Given the description of an element on the screen output the (x, y) to click on. 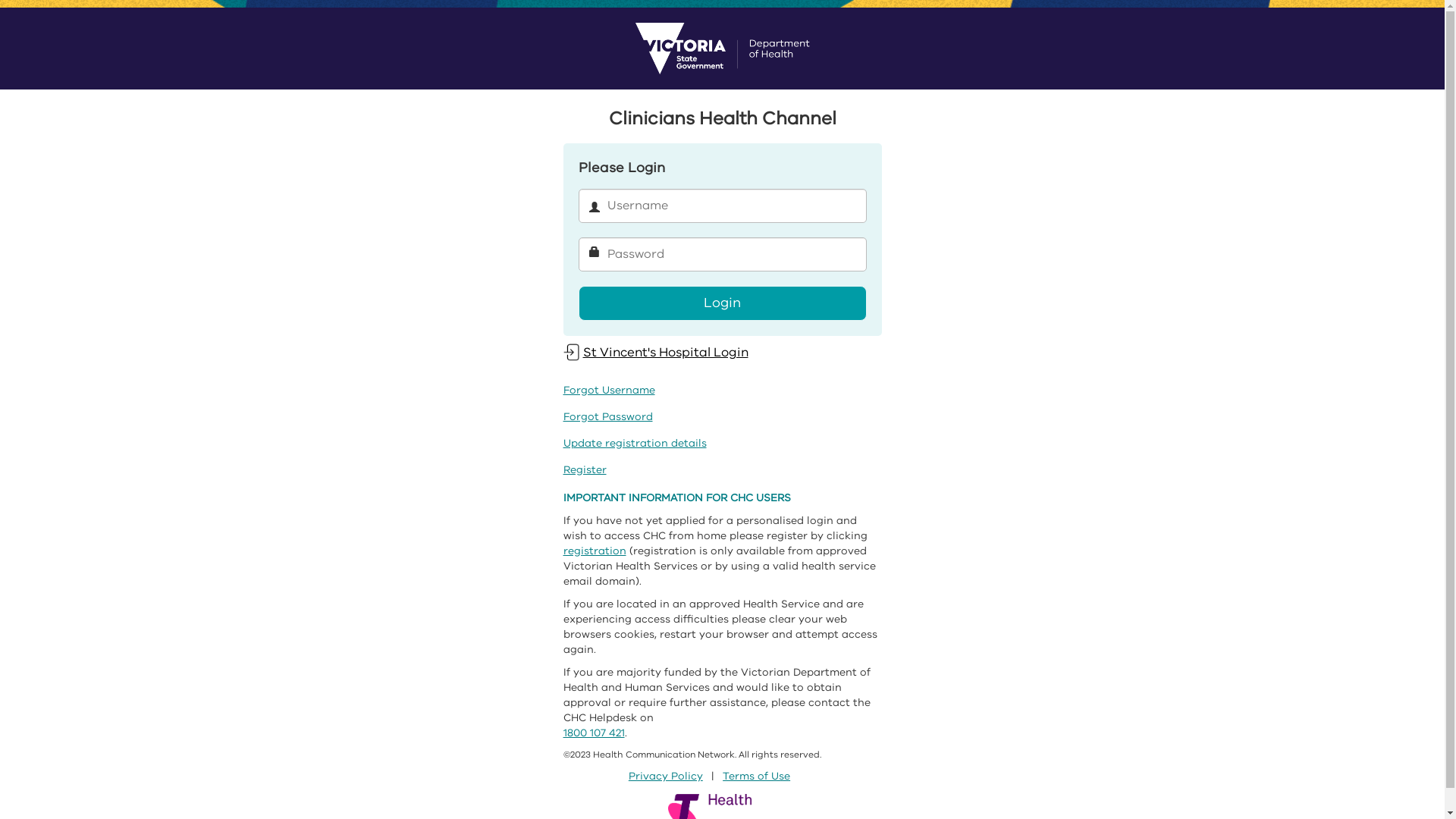
Forgot Username Element type: text (608, 389)
Forgot Password Element type: text (607, 416)
1800 107 421 Element type: text (593, 732)
Login Element type: text (721, 302)
Register Element type: text (583, 469)
Update registration details Element type: text (634, 443)
registration Element type: text (593, 550)
Privacy Policy Element type: text (665, 775)
St Vincent's Hospital Login Element type: text (654, 351)
Terms of Use Element type: text (756, 775)
